Given the description of an element on the screen output the (x, y) to click on. 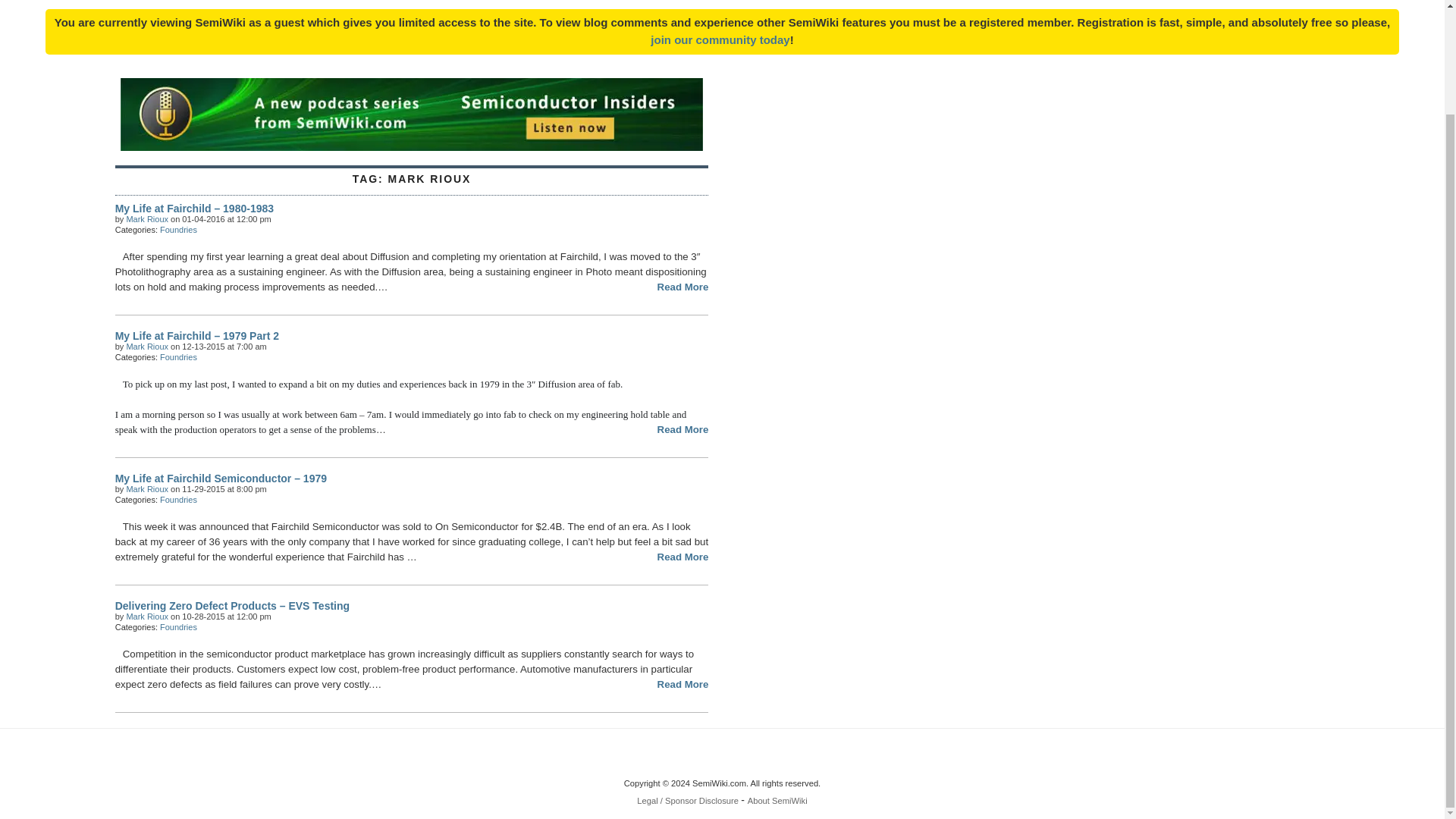
Login (719, 39)
